Given the description of an element on the screen output the (x, y) to click on. 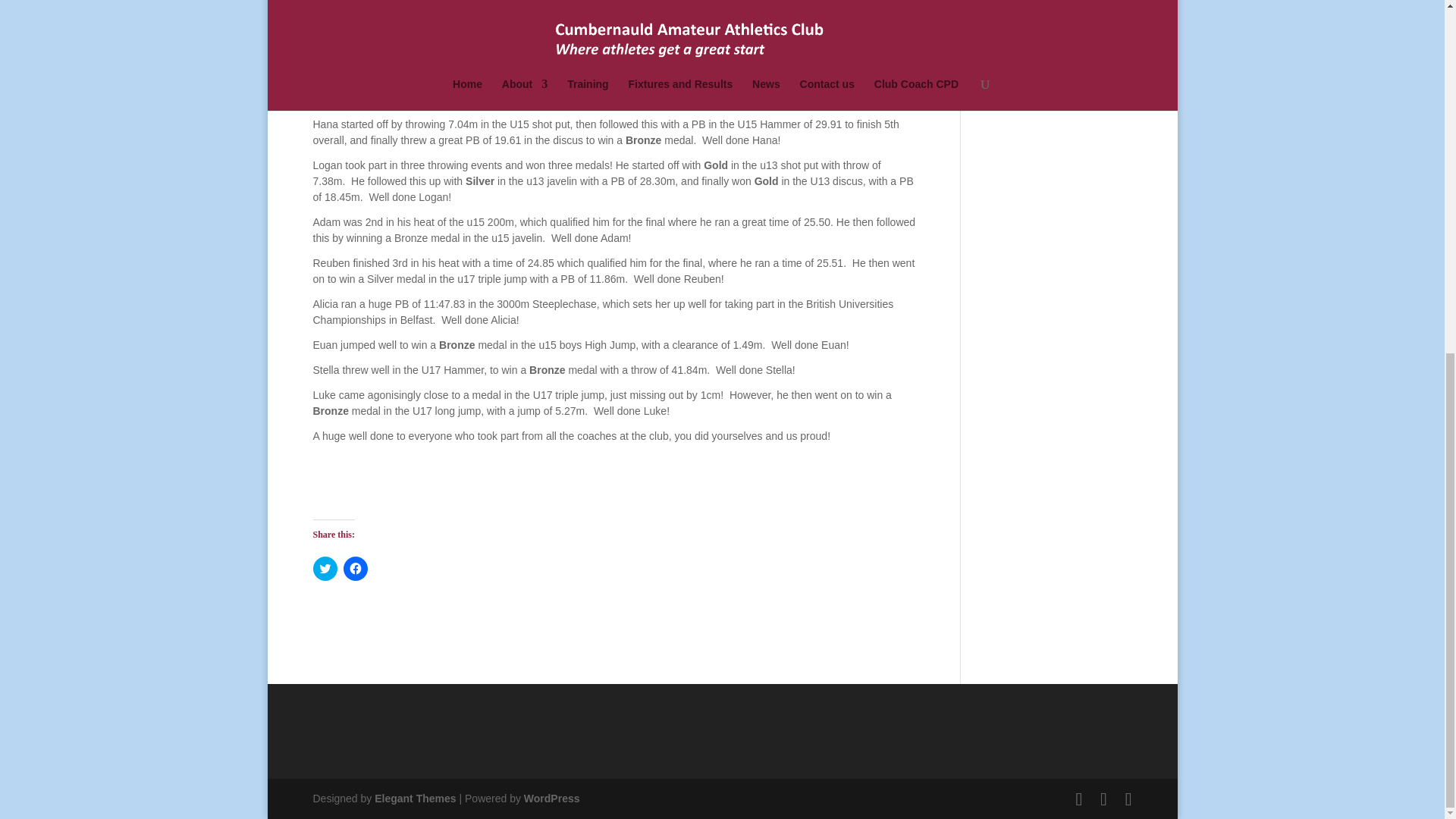
Elegant Themes (414, 798)
Click to share on Facebook (354, 568)
Premium WordPress Themes (414, 798)
Click to share on Twitter (324, 568)
WordPress (551, 798)
